Given the description of an element on the screen output the (x, y) to click on. 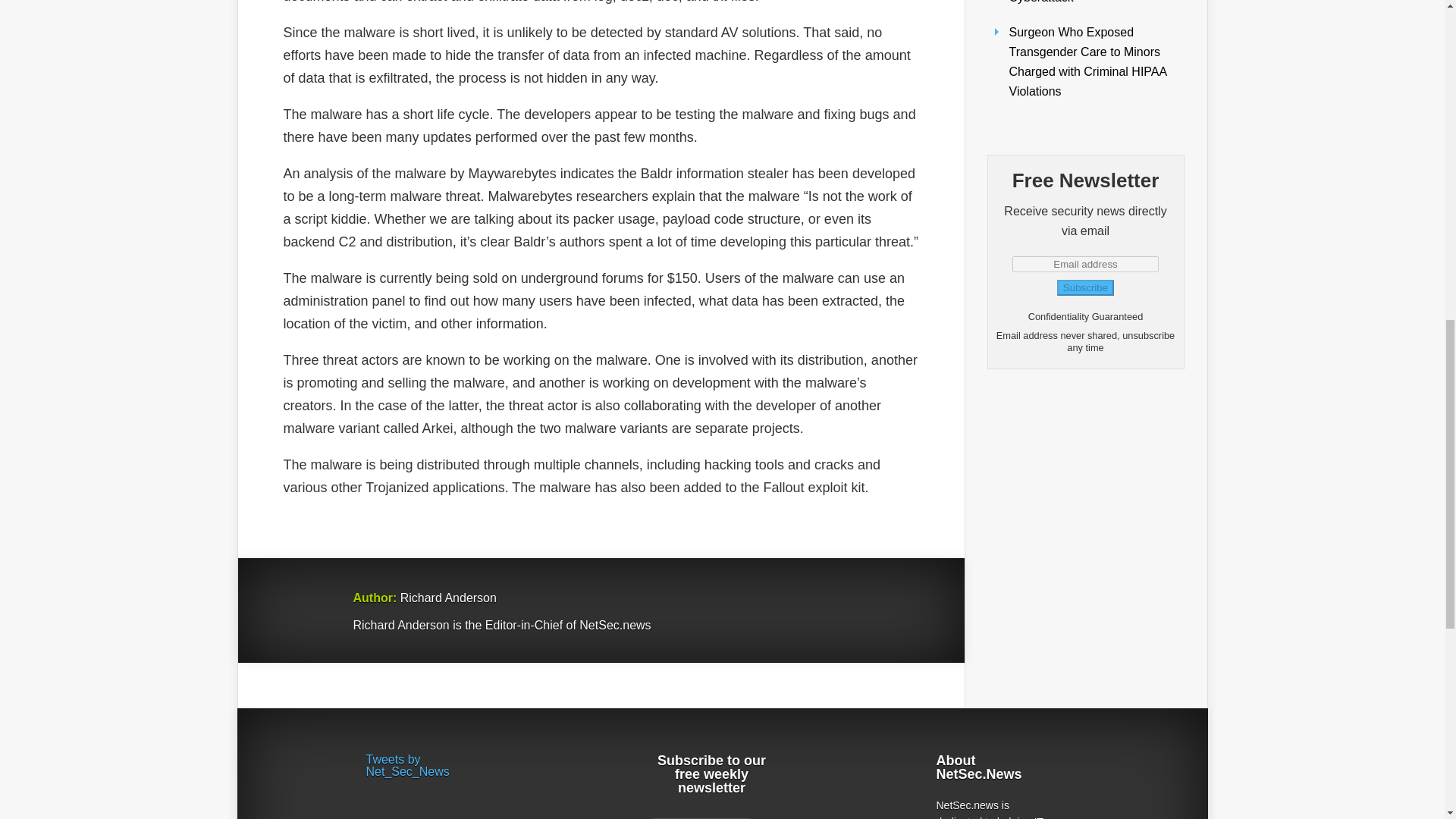
Subscribe (1085, 287)
